Given the description of an element on the screen output the (x, y) to click on. 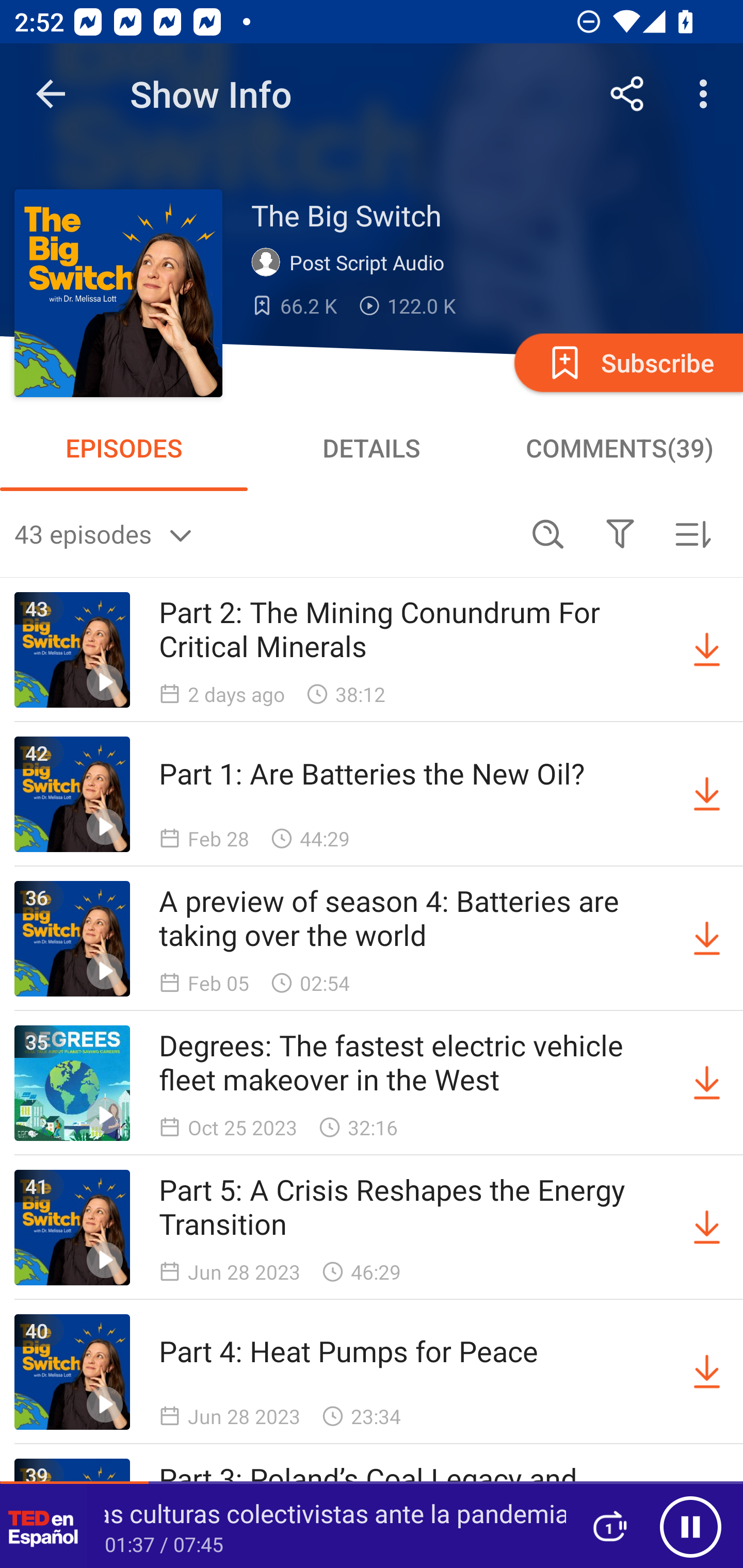
Navigate up (50, 93)
Share (626, 93)
More options (706, 93)
Post Script Audio (352, 262)
Subscribe (627, 361)
EPISODES (123, 447)
DETAILS (371, 447)
COMMENTS(39) (619, 447)
43 episodes  (262, 533)
 Search (547, 533)
 (619, 533)
 Sorted by newest first (692, 533)
Download (706, 649)
Download (706, 793)
Download (706, 939)
Download (706, 1083)
Download (706, 1227)
Download (706, 1371)
Pause (690, 1526)
